Given the description of an element on the screen output the (x, y) to click on. 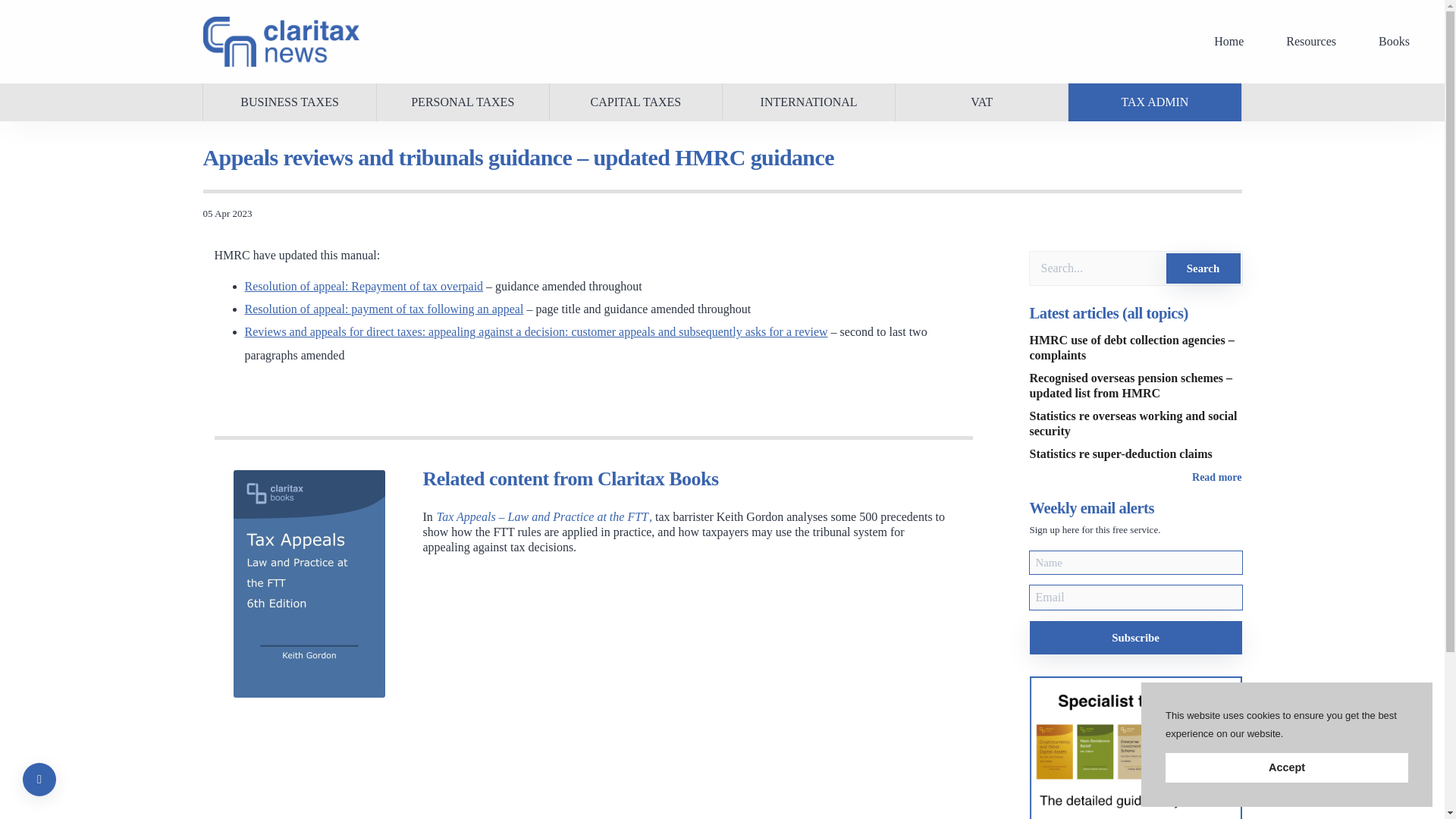
VAT (981, 102)
Statistics re super-deduction claims (1120, 453)
PERSONAL TAXES (461, 102)
Statistics re overseas working and social security (1133, 423)
INTERNATIONAL (808, 102)
Resolution of appeal: Repayment of tax overpaid (363, 286)
Resources (1311, 41)
Search (1203, 268)
Subscribe (1135, 637)
